Given the description of an element on the screen output the (x, y) to click on. 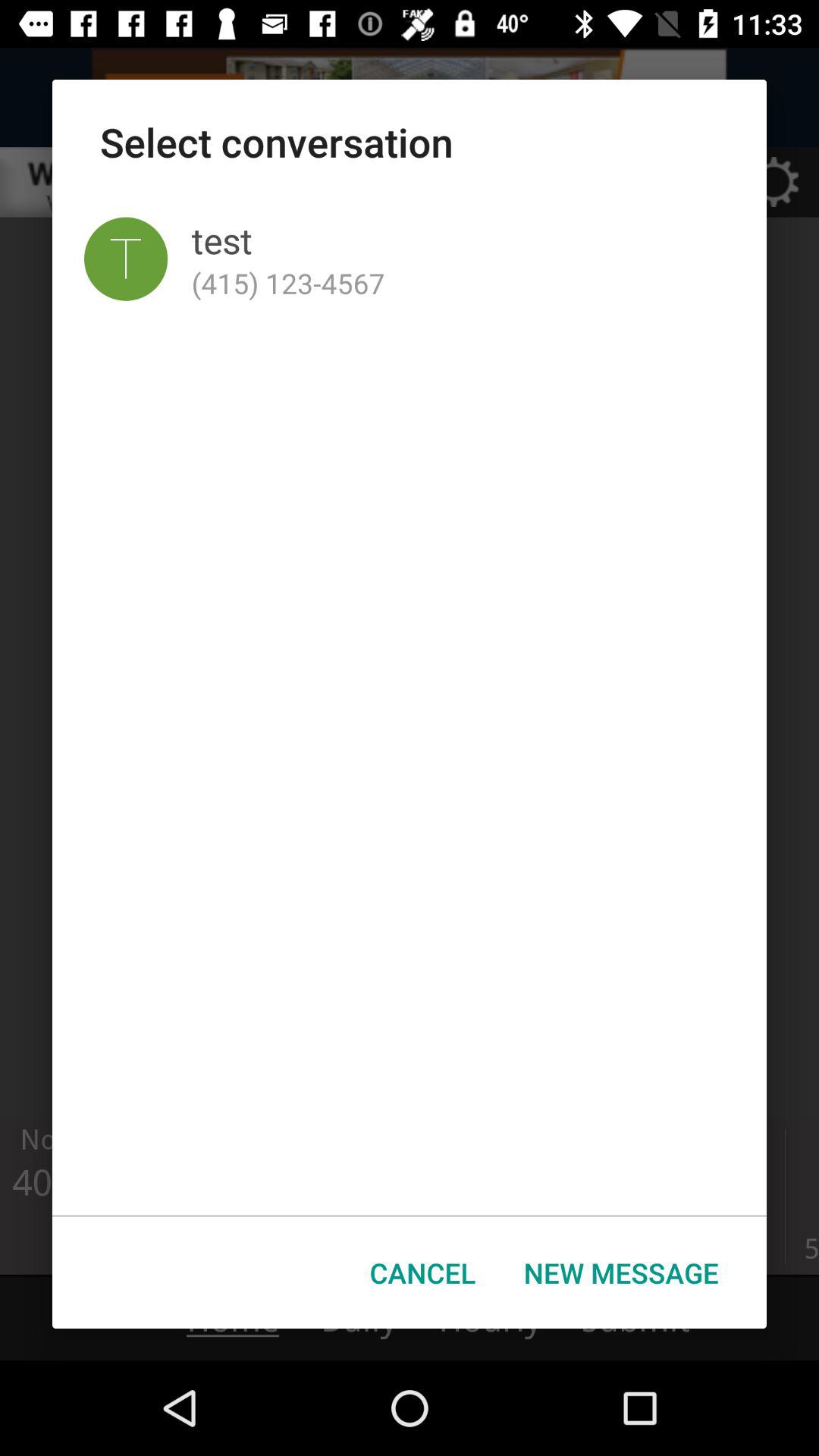
click the item next to test app (125, 258)
